Given the description of an element on the screen output the (x, y) to click on. 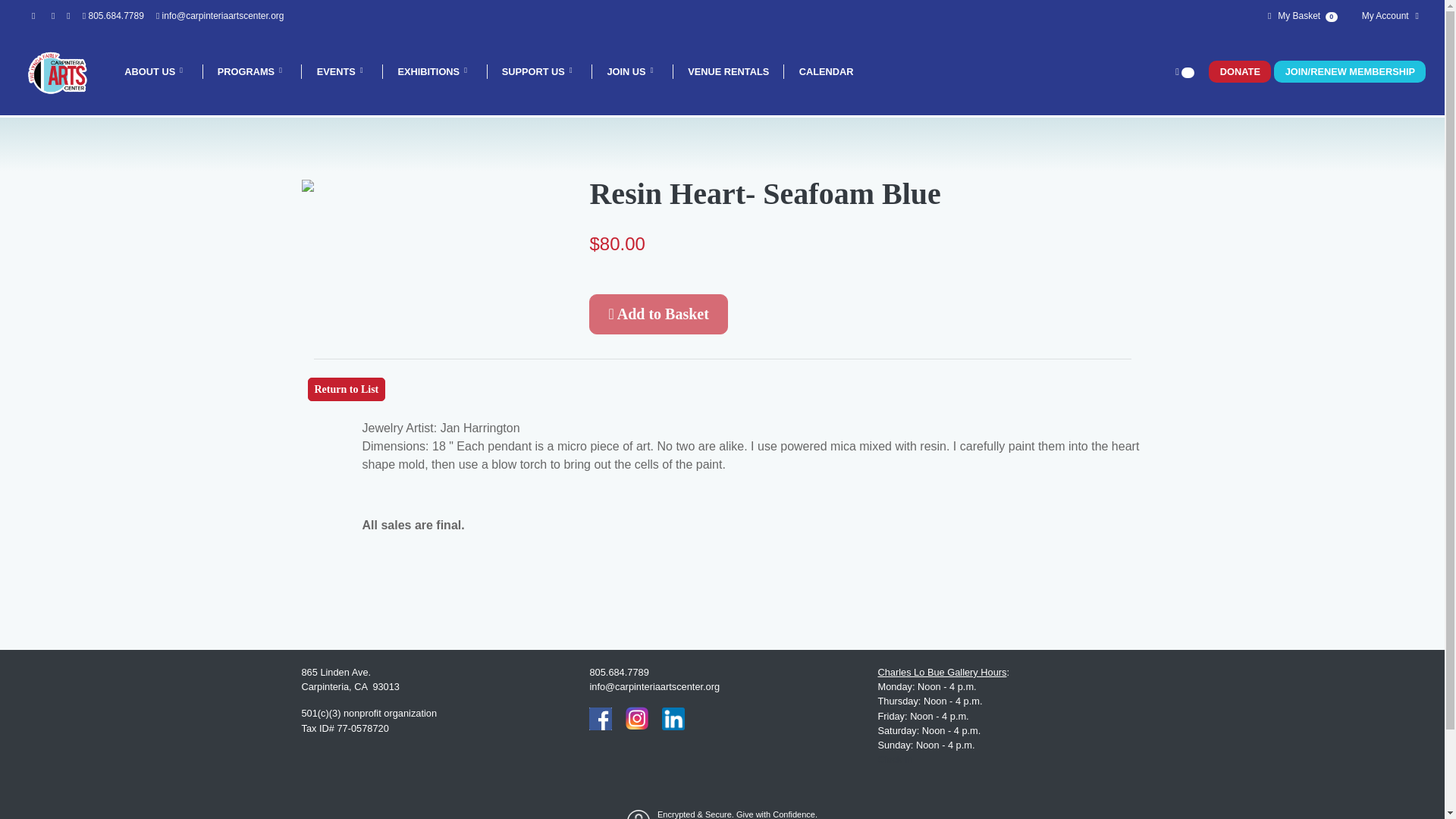
 My Basket  0 (1299, 15)
My Account (1386, 15)
805.684.7789 (114, 15)
PROGRAMS (252, 71)
ABOUT US (156, 71)
